Given the description of an element on the screen output the (x, y) to click on. 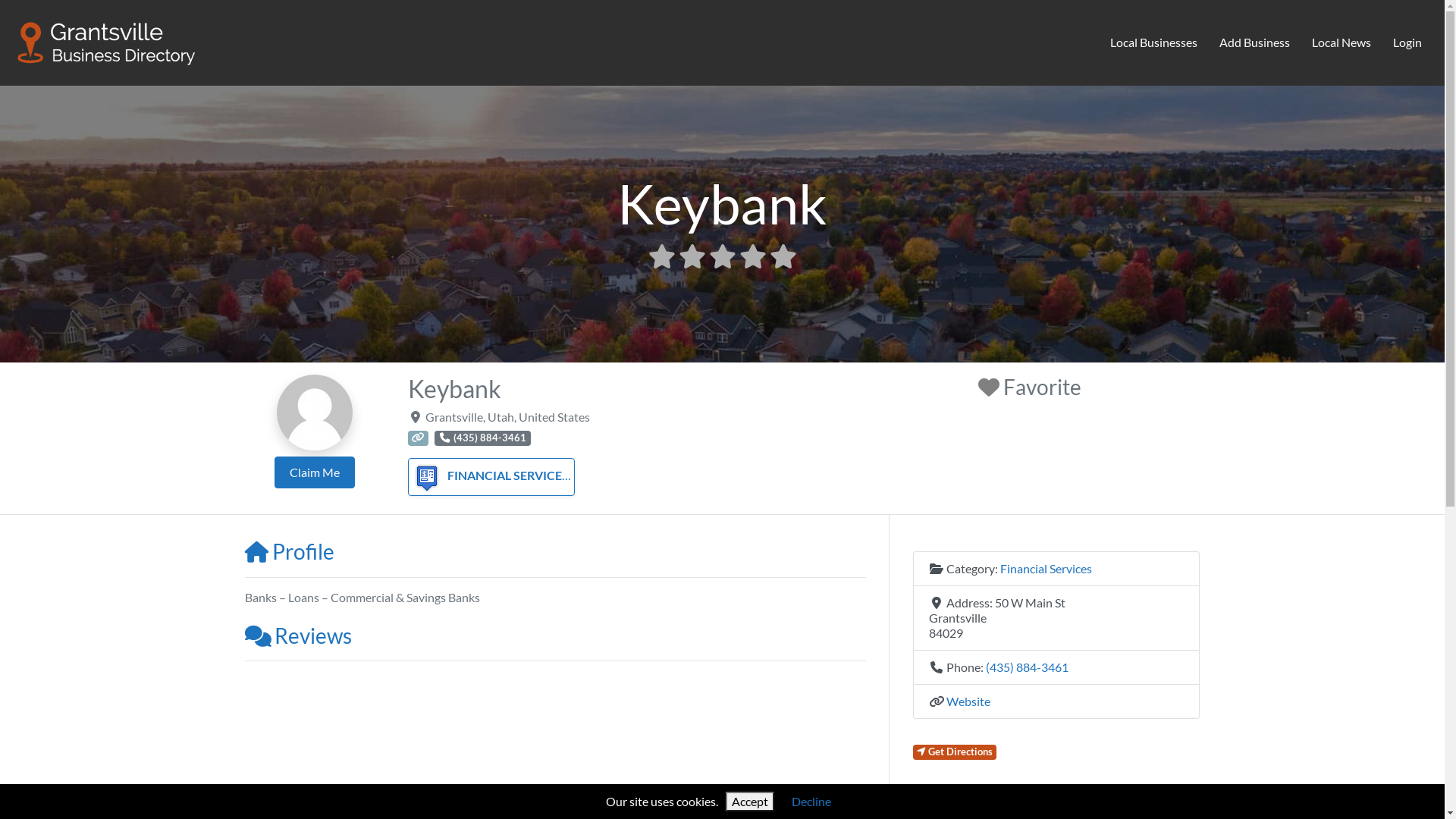
Login Element type: text (1406, 42)
Financial Services Element type: text (1045, 568)
Claim Me Element type: text (314, 472)
Get Directions Element type: text (955, 751)
(435) 884-3461 Element type: text (482, 437)
No rating yet! Element type: hover (721, 255)
Add Business Element type: text (1254, 42)
Profile Element type: text (288, 551)
(435) 884-3461 Element type: text (1026, 666)
Favorite Element type: text (1029, 386)
Local News Element type: text (1340, 42)
Accept Element type: text (749, 801)
Grantsville Business Directory Element type: hover (106, 40)
Decline Element type: text (811, 800)
Reviews Element type: text (297, 635)
Local Businesses Element type: text (1153, 42)
Website Element type: text (968, 700)
FINANCIAL SERVICES Element type: text (489, 474)
